Given the description of an element on the screen output the (x, y) to click on. 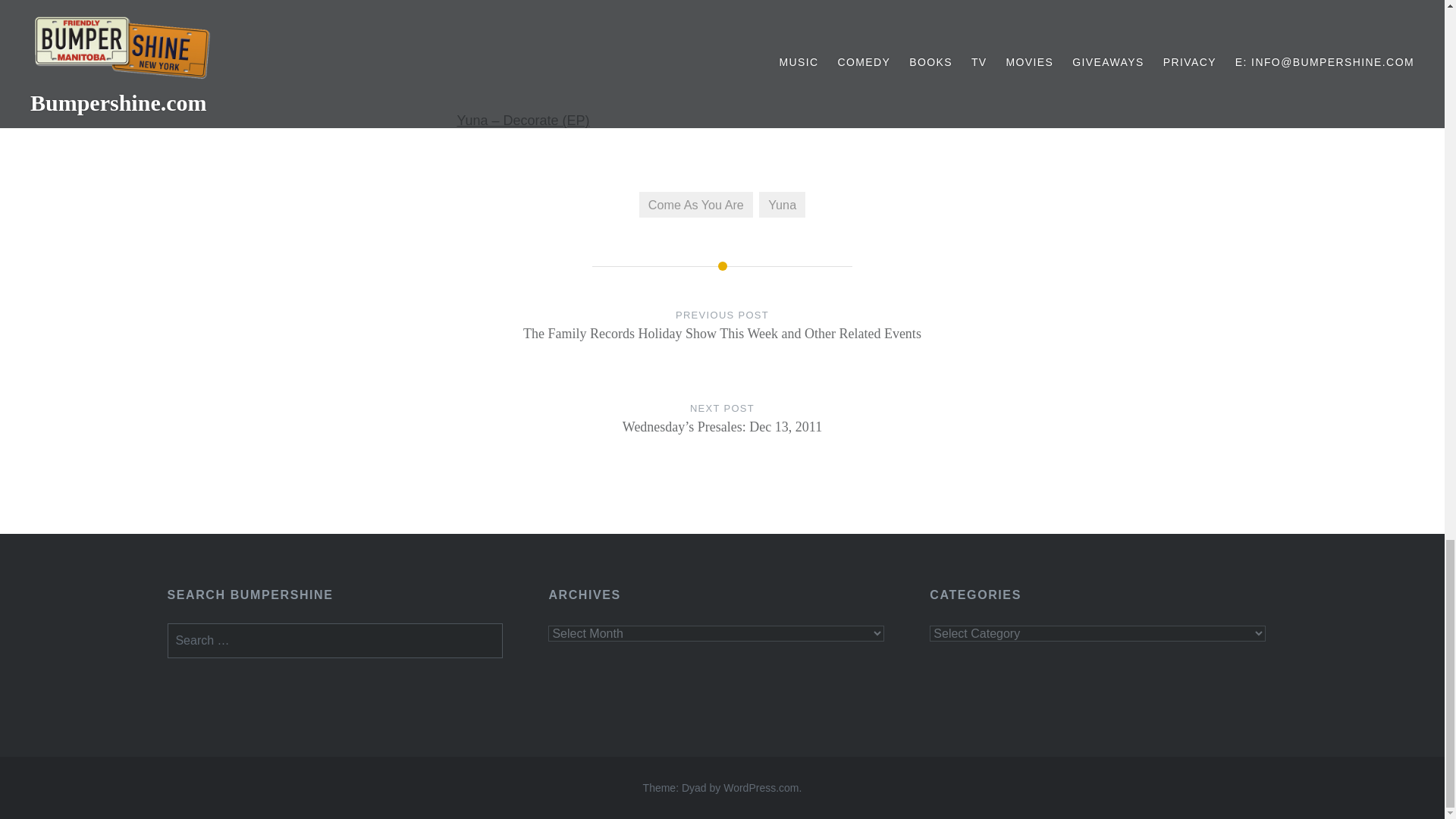
WordPress.com (760, 787)
Come As You Are (695, 204)
Yuna (781, 204)
